Given the description of an element on the screen output the (x, y) to click on. 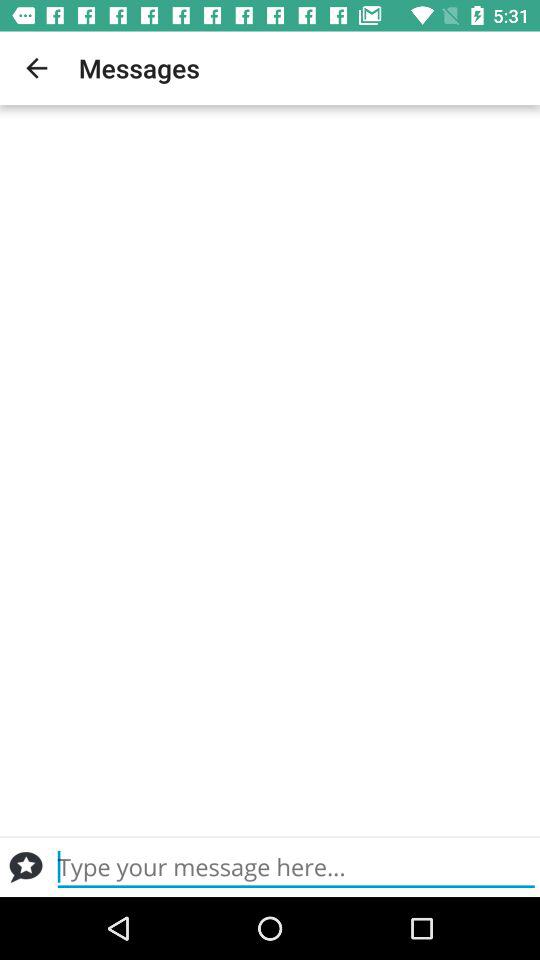
tap app to the left of messages item (36, 68)
